Given the description of an element on the screen output the (x, y) to click on. 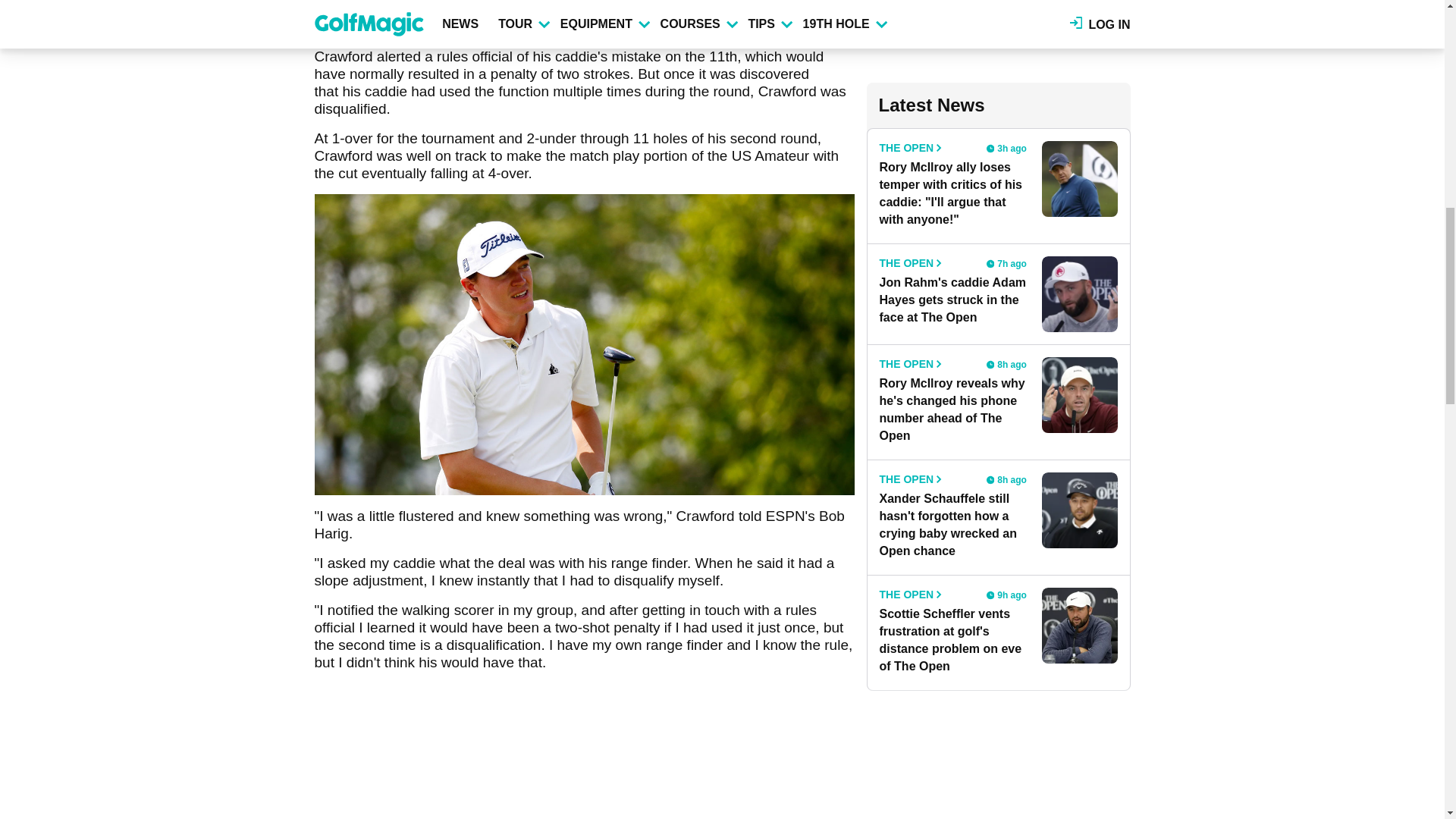
3rd party ad content (998, 29)
